Given the description of an element on the screen output the (x, y) to click on. 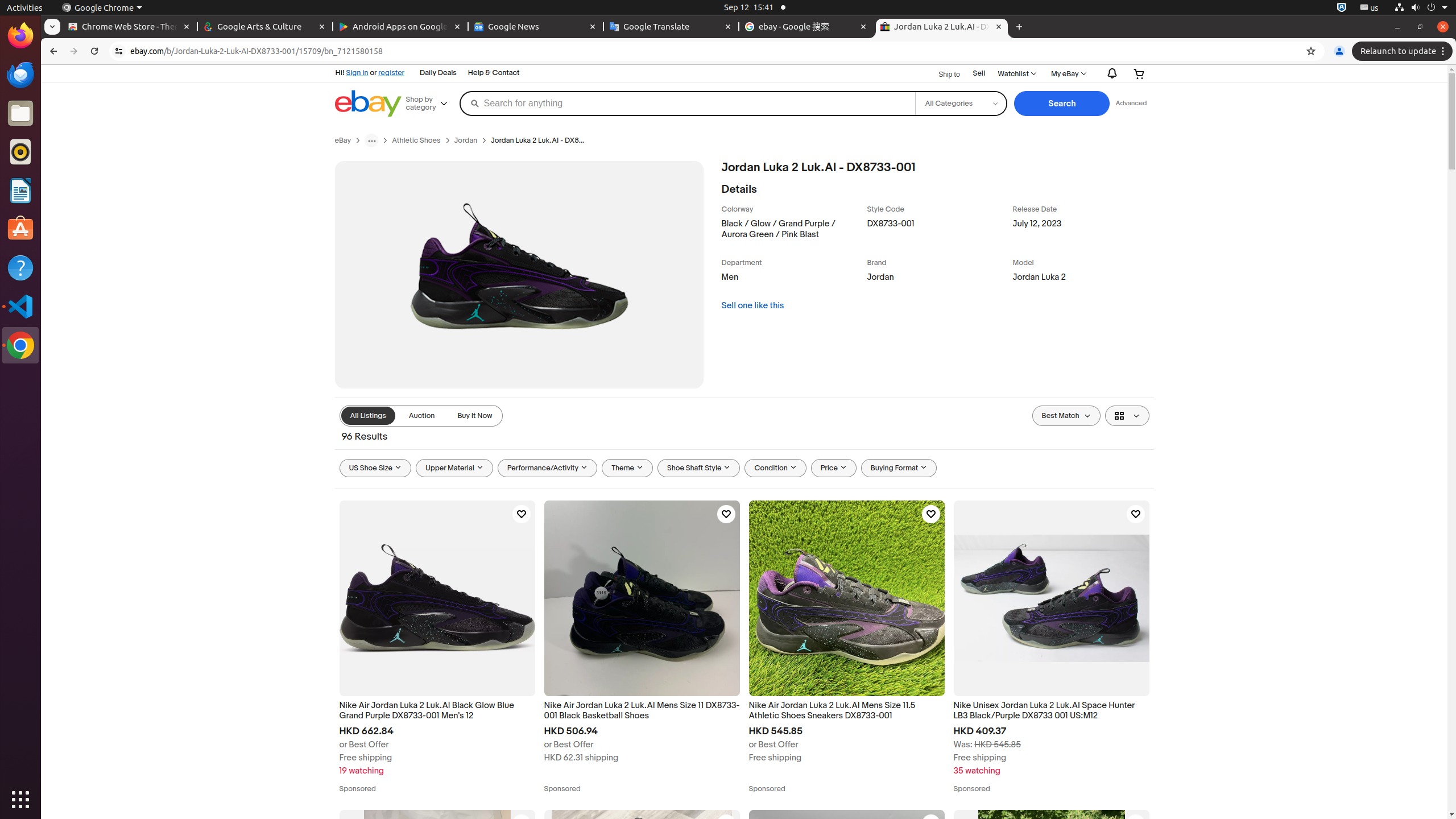
Daily Deals Element type: link (437, 73)
:1.21/StatusNotifierItem Element type: menu (1369, 7)
System Element type: menu (1420, 7)
Price Element type: push-button (833, 467)
Rhythmbox Element type: push-button (20, 151)
